Given the description of an element on the screen output the (x, y) to click on. 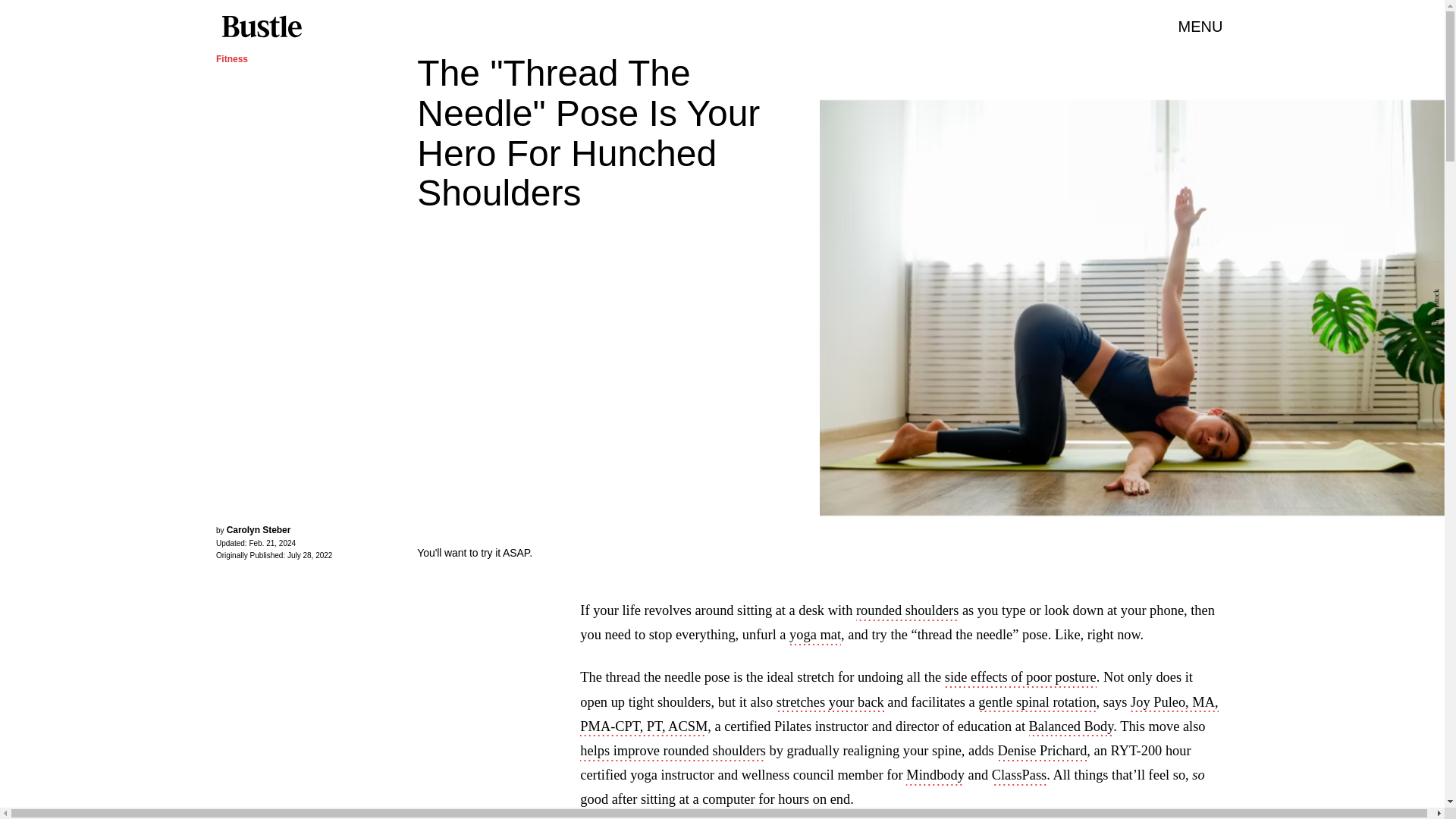
Bustle (261, 26)
Carolyn Steber (259, 529)
ClassPass (1018, 776)
rounded shoulders (907, 611)
side effects of poor posture (1020, 678)
Denise Prichard (1041, 751)
Joy Puleo, MA, PMA-CPT, PT, ACSM (898, 715)
Balanced Body (1071, 728)
Mindbody (934, 776)
helps improve rounded shoulders (672, 751)
stretches your back (829, 703)
yoga mat (815, 636)
gentle spinal rotation (1037, 703)
